Given the description of an element on the screen output the (x, y) to click on. 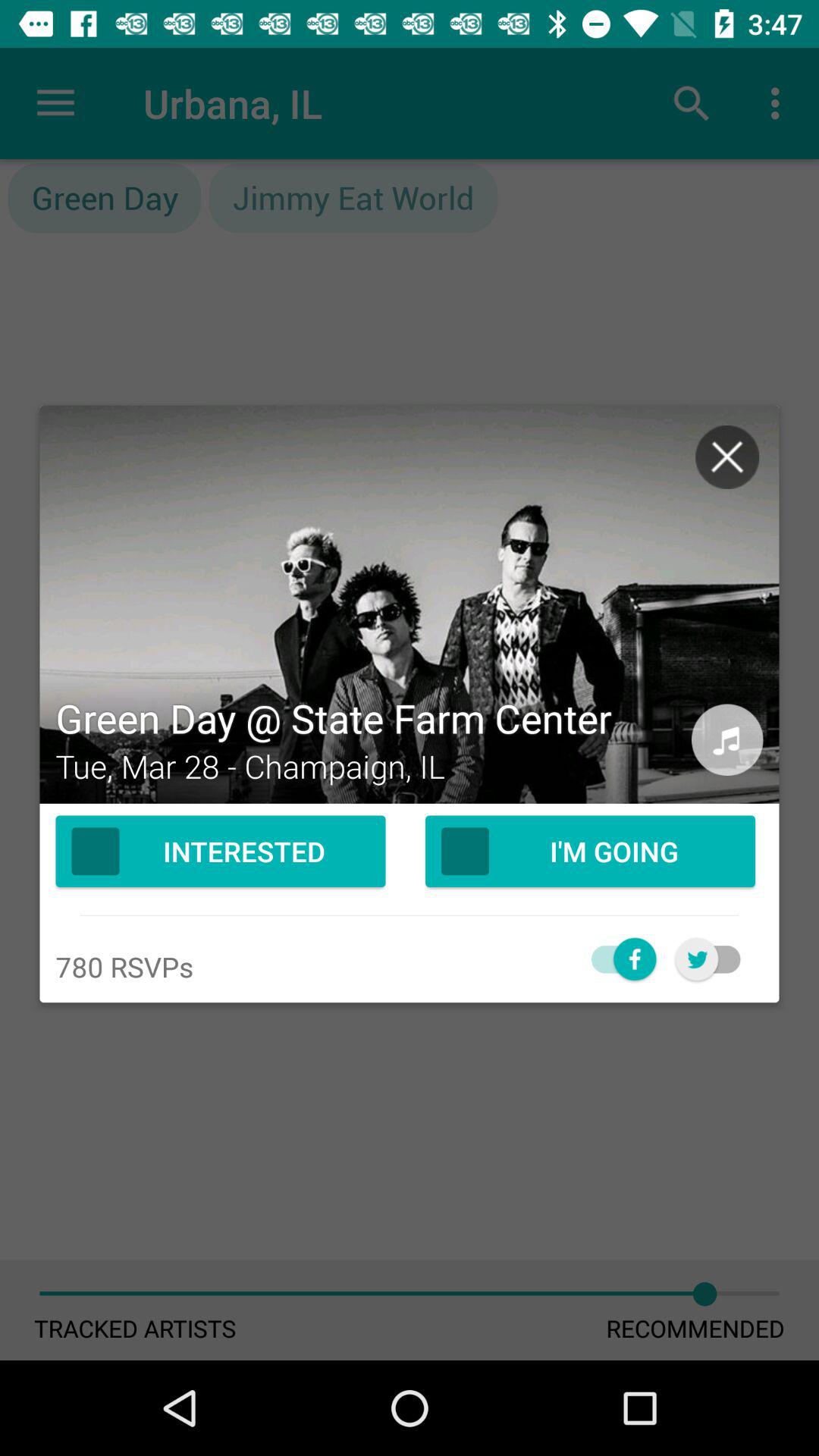
facebook is on (615, 959)
